Given the description of an element on the screen output the (x, y) to click on. 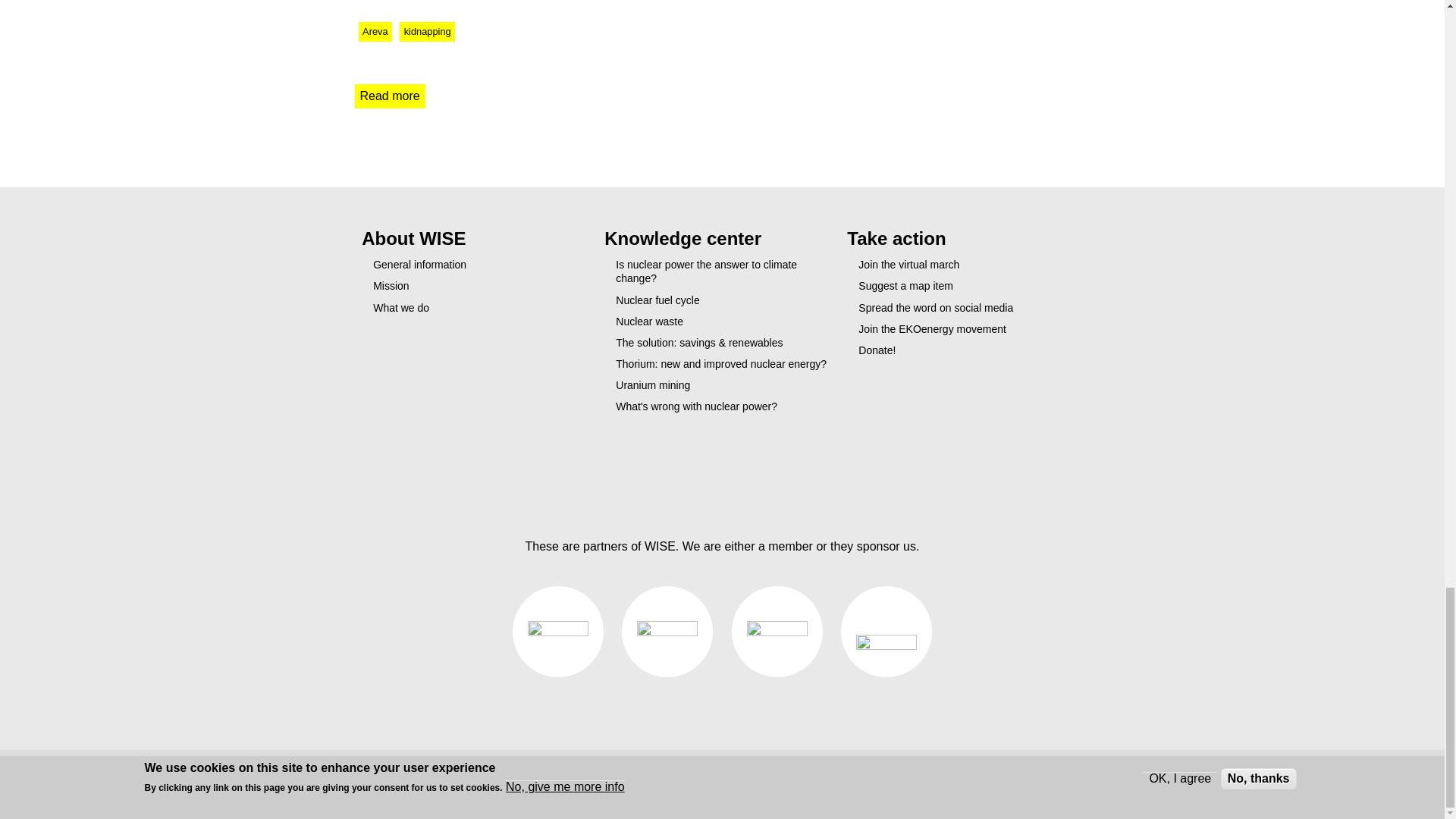
Nuclear fuel cycle (657, 300)
Is nuclear power the answer to climate change? (705, 271)
Nuclear waste (648, 321)
Mission (390, 285)
What we do (400, 307)
Top (721, 467)
Areva workers in trouble, in Niger (390, 96)
kidnapping (390, 96)
General information (426, 31)
Areva (418, 264)
